Given the description of an element on the screen output the (x, y) to click on. 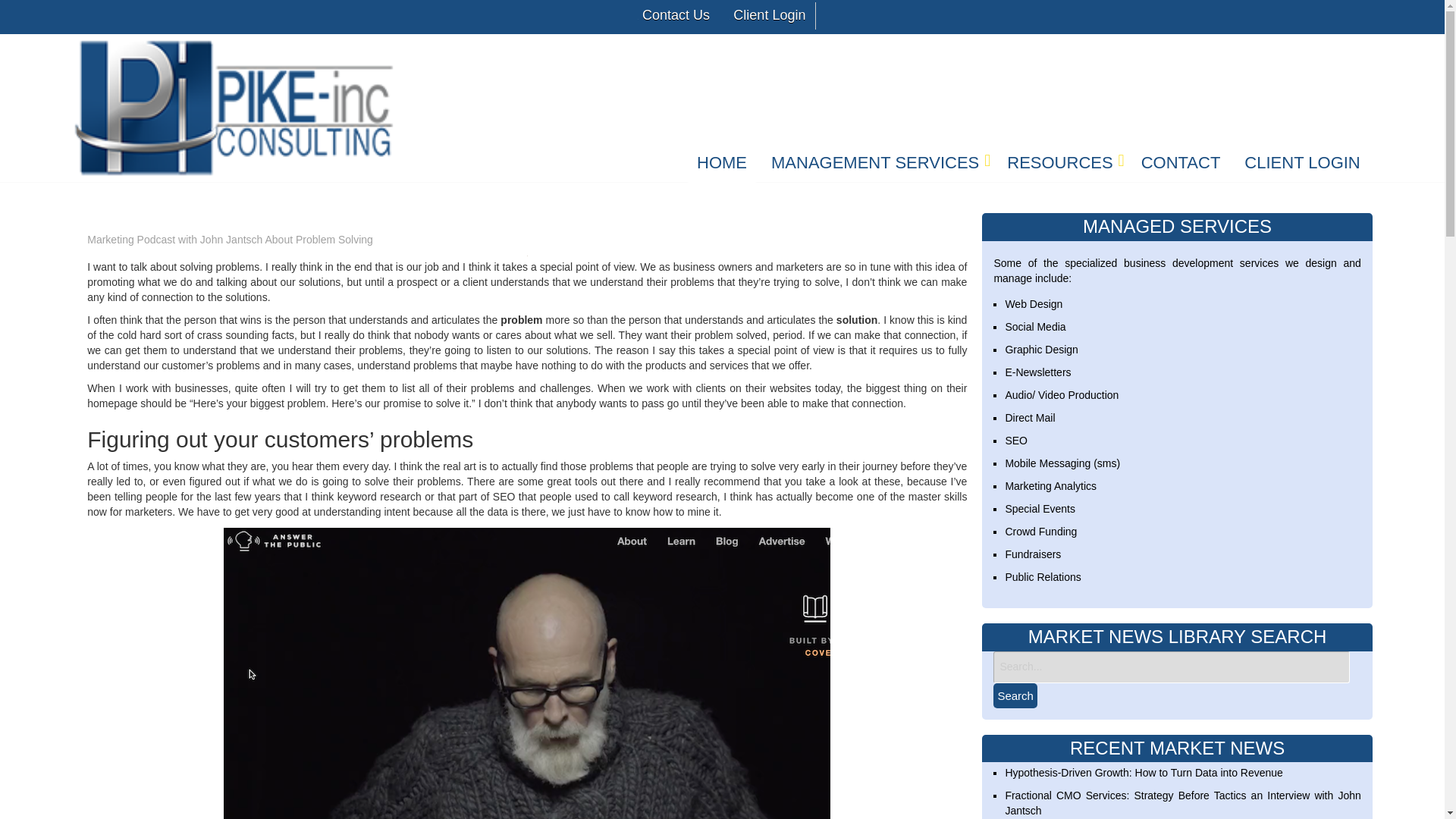
Marketing Podcast with John Jantsch About Problem Solving (229, 239)
HOME (721, 164)
Hypothesis-Driven Growth: How to Turn Data into Revenue (1143, 772)
MANAGEMENT SERVICES (877, 164)
Search (1014, 695)
RESOURCES (1060, 164)
Contact Us (673, 15)
Client Login (767, 15)
CONTACT (1180, 164)
CLIENT LOGIN (1302, 164)
Search (1014, 695)
